Given the description of an element on the screen output the (x, y) to click on. 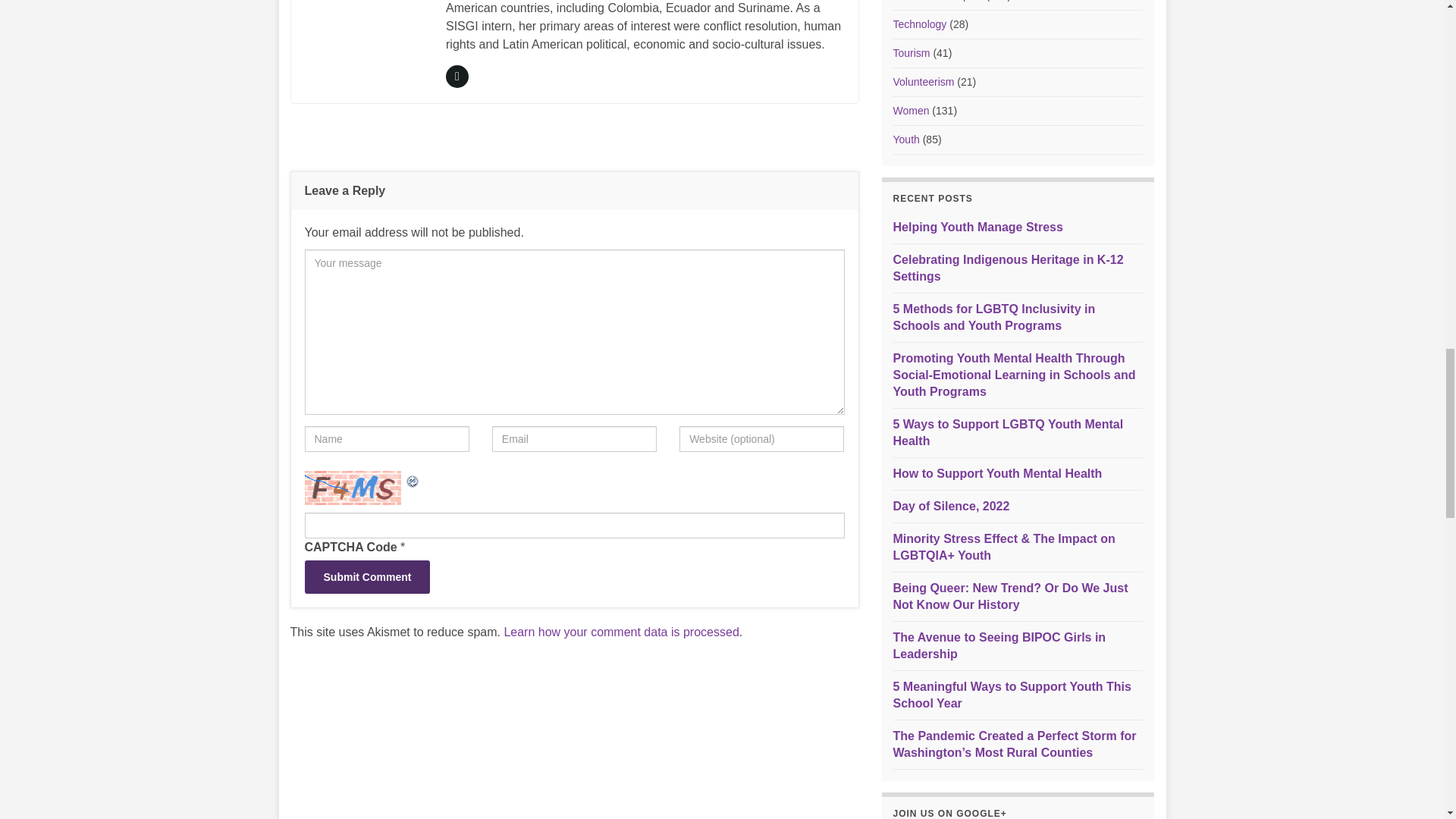
Submit Comment (367, 576)
